Given the description of an element on the screen output the (x, y) to click on. 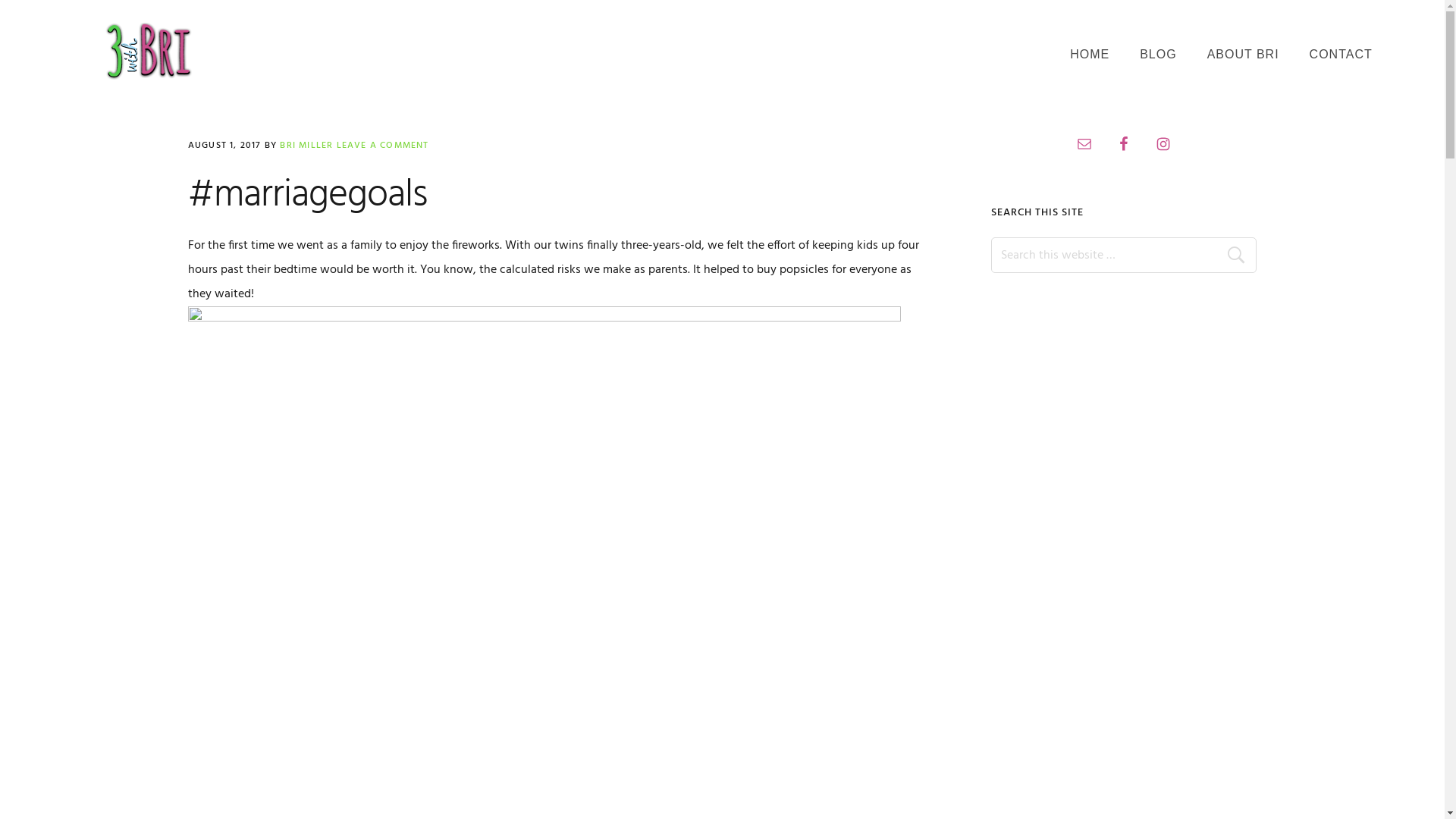
LEAVE A COMMENT Element type: text (382, 145)
HOME Element type: text (1089, 54)
ABOUT BRI Element type: text (1243, 54)
Search Element type: text (1241, 255)
Skip to primary navigation Element type: text (0, 0)
3 with Bri Element type: text (147, 50)
BRI MILLER Element type: text (305, 145)
CONTACT Element type: text (1340, 54)
BLOG Element type: text (1157, 54)
